Given the description of an element on the screen output the (x, y) to click on. 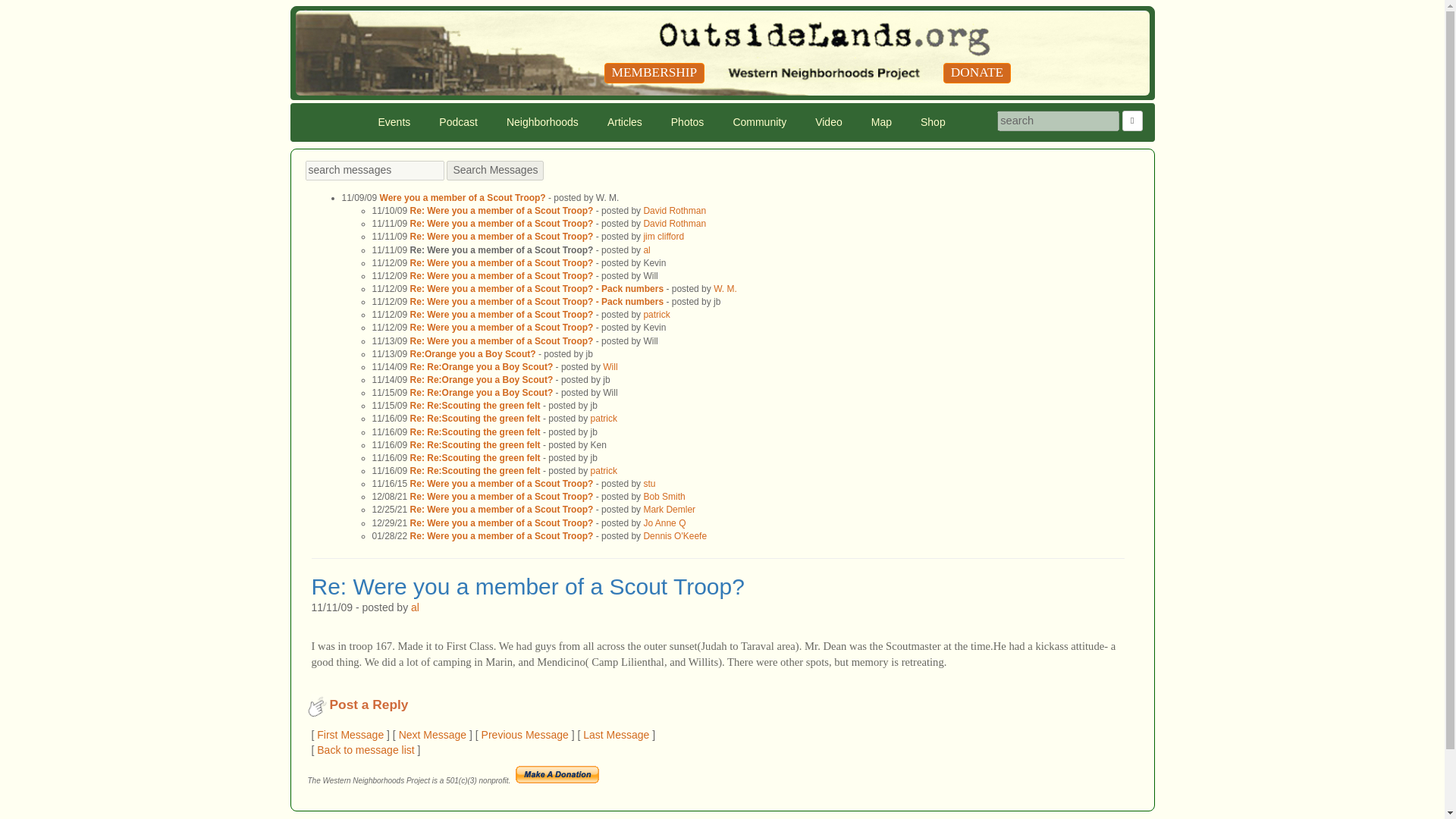
Re: Were you a member of a Scout Troop? (502, 262)
Re: Were you a member of a Scout Troop? - Pack numbers (536, 301)
Re: Were you a member of a Scout Troop? (502, 276)
Events (394, 121)
Podcast (458, 121)
David Rothman (674, 223)
Search Messages (494, 170)
Will (609, 366)
Were you a member of a Scout Troop? (463, 197)
Re: Were you a member of a Scout Troop? (502, 210)
Re: Re:Orange you a Boy Scout? (481, 366)
jim clifford (663, 235)
Re: Were you a member of a Scout Troop? (502, 235)
Re: Were you a member of a Scout Troop? (502, 223)
Re: Were you a member of a Scout Troop? - Pack numbers (536, 288)
